Given the description of an element on the screen output the (x, y) to click on. 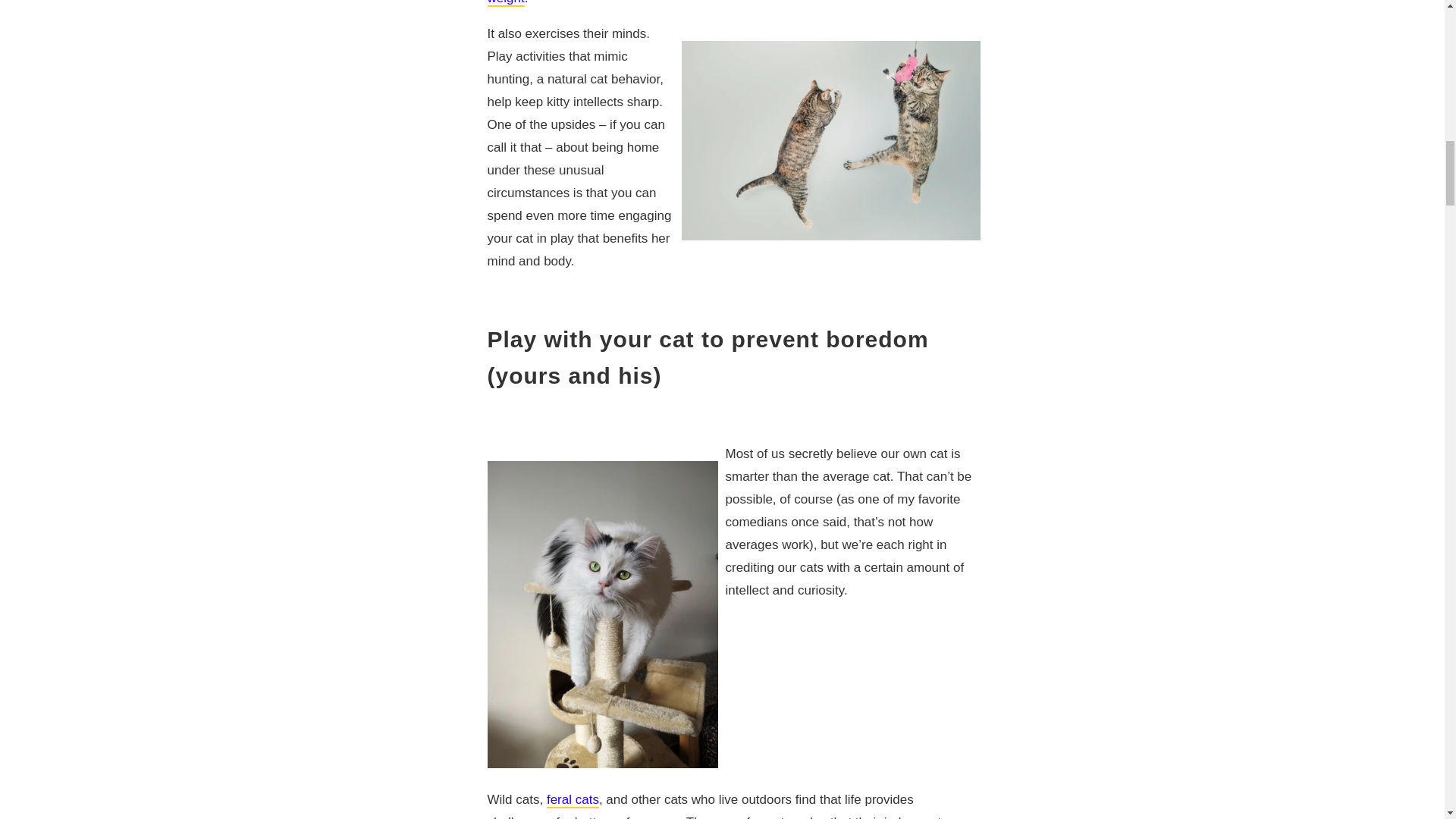
How to help a cat lose weight (721, 3)
I found a stray cat. Now what? (572, 800)
